Given the description of an element on the screen output the (x, y) to click on. 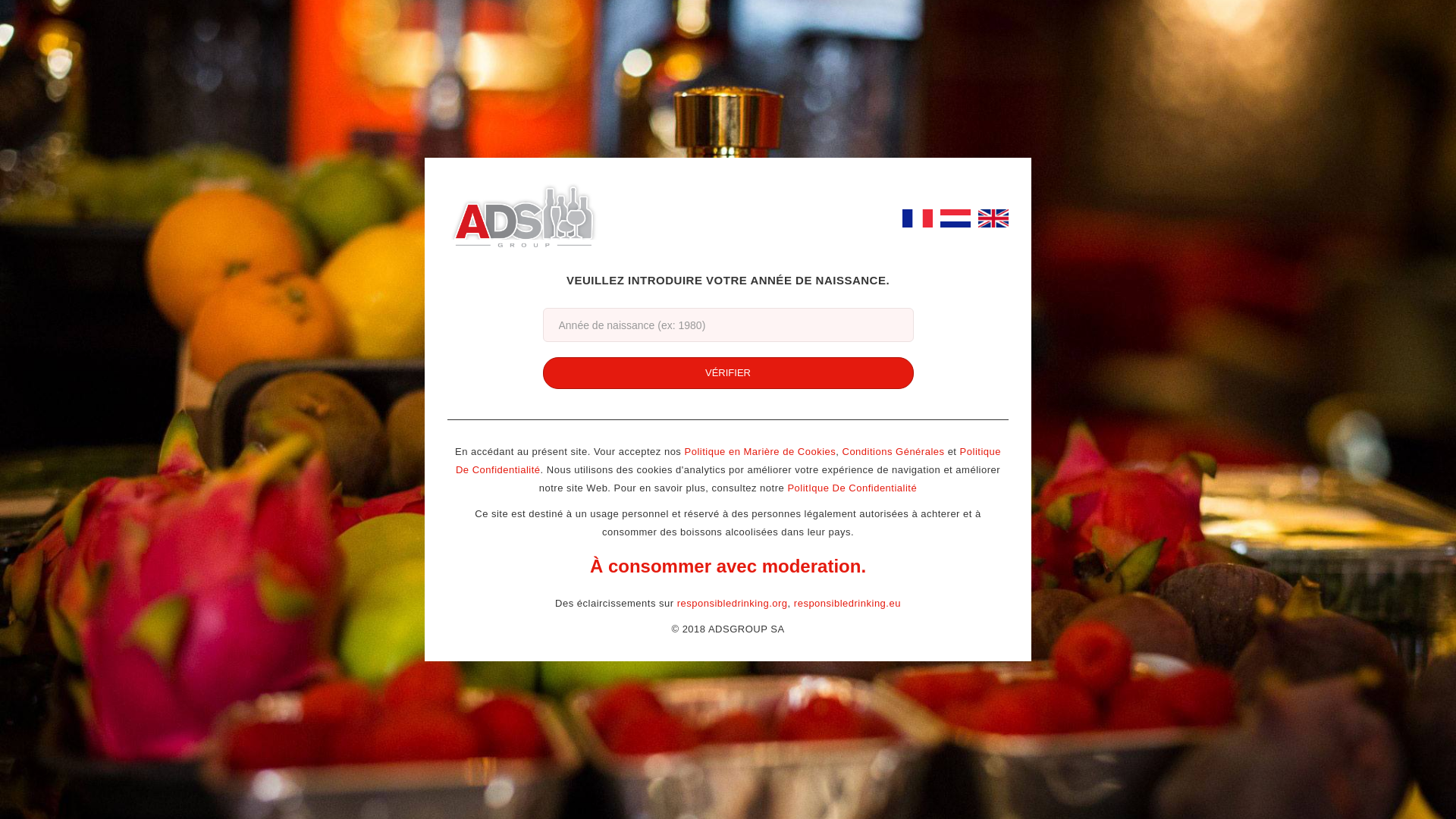
responsibledrinking.eu Element type: text (846, 602)
responsibledrinking.org Element type: text (732, 602)
